Given the description of an element on the screen output the (x, y) to click on. 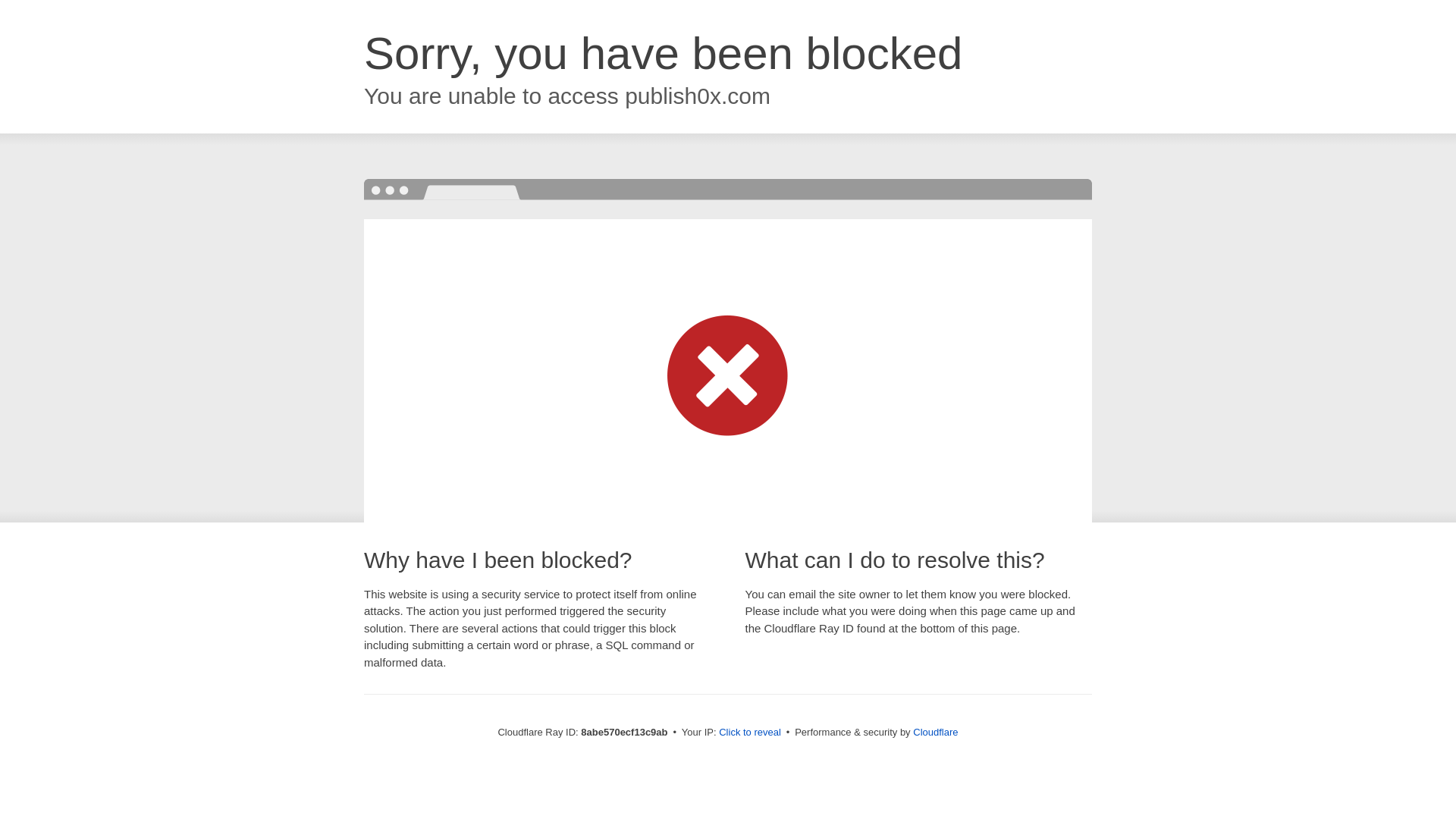
Cloudflare (935, 731)
Click to reveal (749, 732)
